Given the description of an element on the screen output the (x, y) to click on. 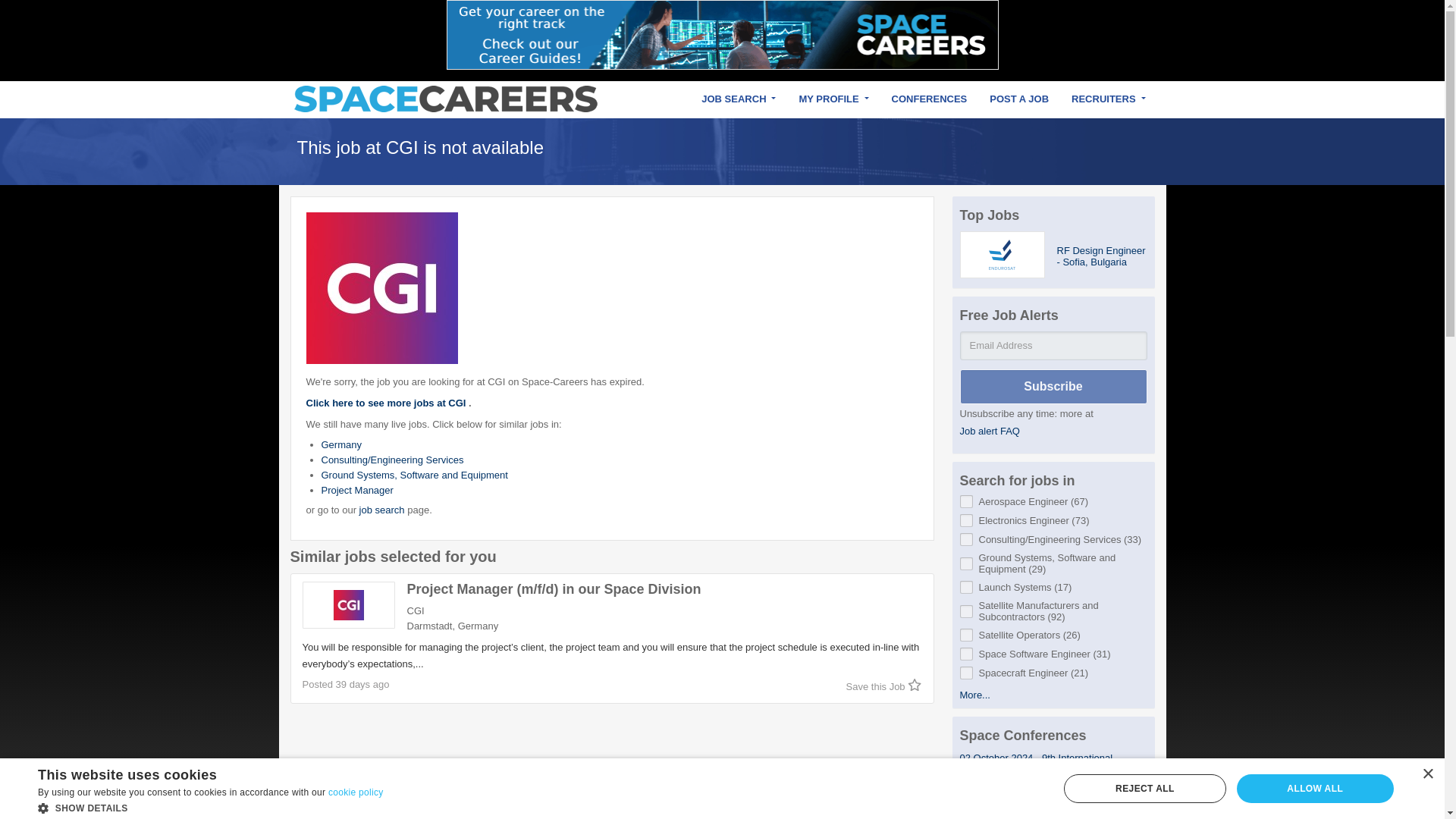
Save this job (883, 686)
Germany (341, 444)
Subscribe (1053, 386)
Space-Careers Career Guides (721, 34)
RF Design Engineer - Sofia, Bulgaria (1102, 255)
Project Manager (357, 490)
job search (381, 509)
MY PROFILE (833, 99)
Save this Job (883, 686)
JOB SEARCH (738, 99)
RECRUITERS (1107, 99)
Space-Careers (445, 98)
Top Jobs (989, 215)
Click here to see more jobs at CGI (386, 402)
CGI (381, 287)
